Given the description of an element on the screen output the (x, y) to click on. 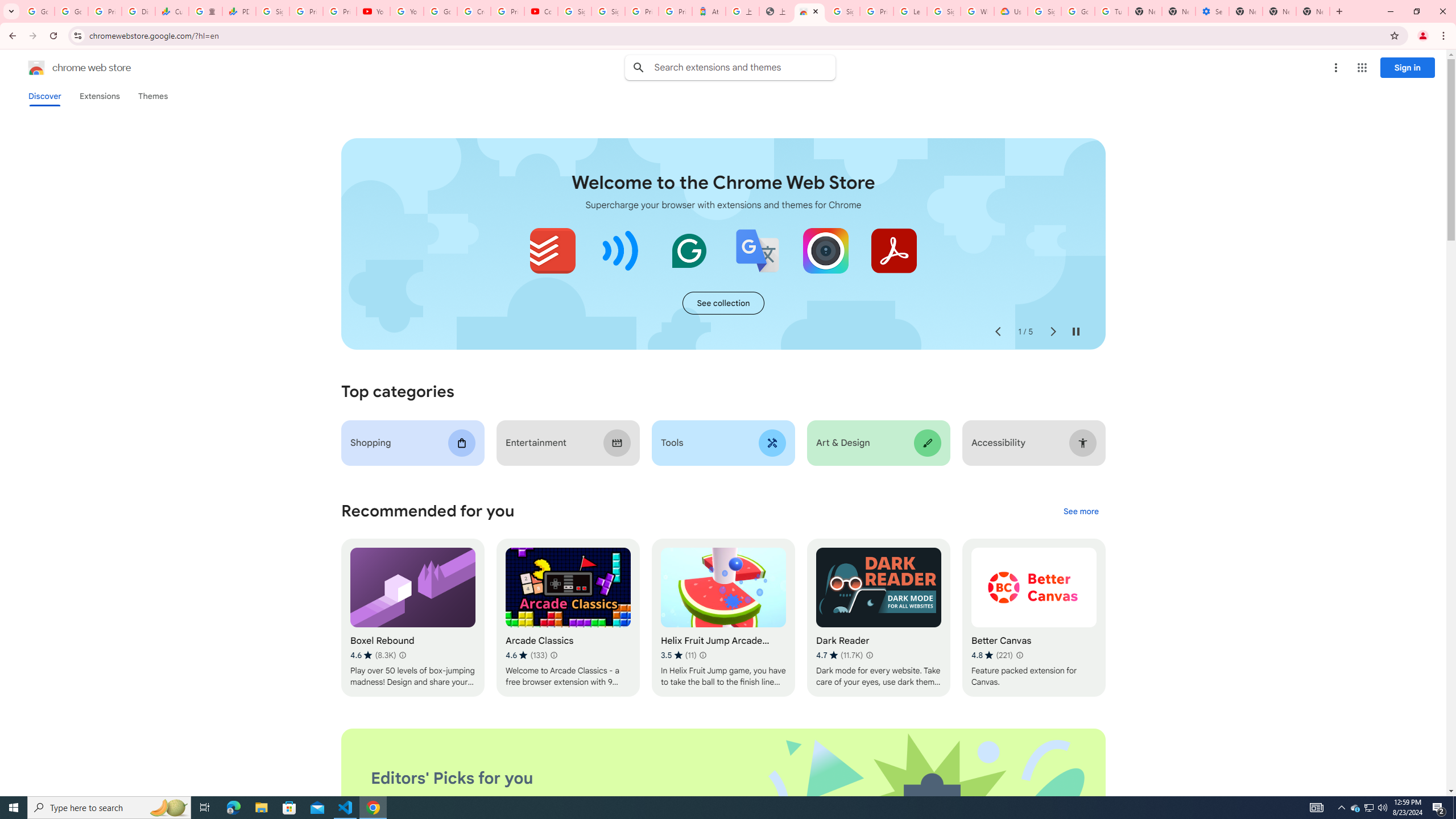
Better Canvas (1033, 617)
Search input (744, 67)
Average rating 4.8 out of 5 stars. 221 ratings. (992, 655)
Atour Hotel - Google hotels (708, 11)
See more personalized recommendations (1080, 511)
New Tab (1313, 11)
Average rating 3.5 out of 5 stars. 11 ratings. (679, 655)
Google Workspace Admin Community (37, 11)
Grammarly: AI Writing and Grammar Checker App (689, 250)
Themes (152, 95)
Turn cookies on or off - Computer - Google Account Help (1111, 11)
